Given the description of an element on the screen output the (x, y) to click on. 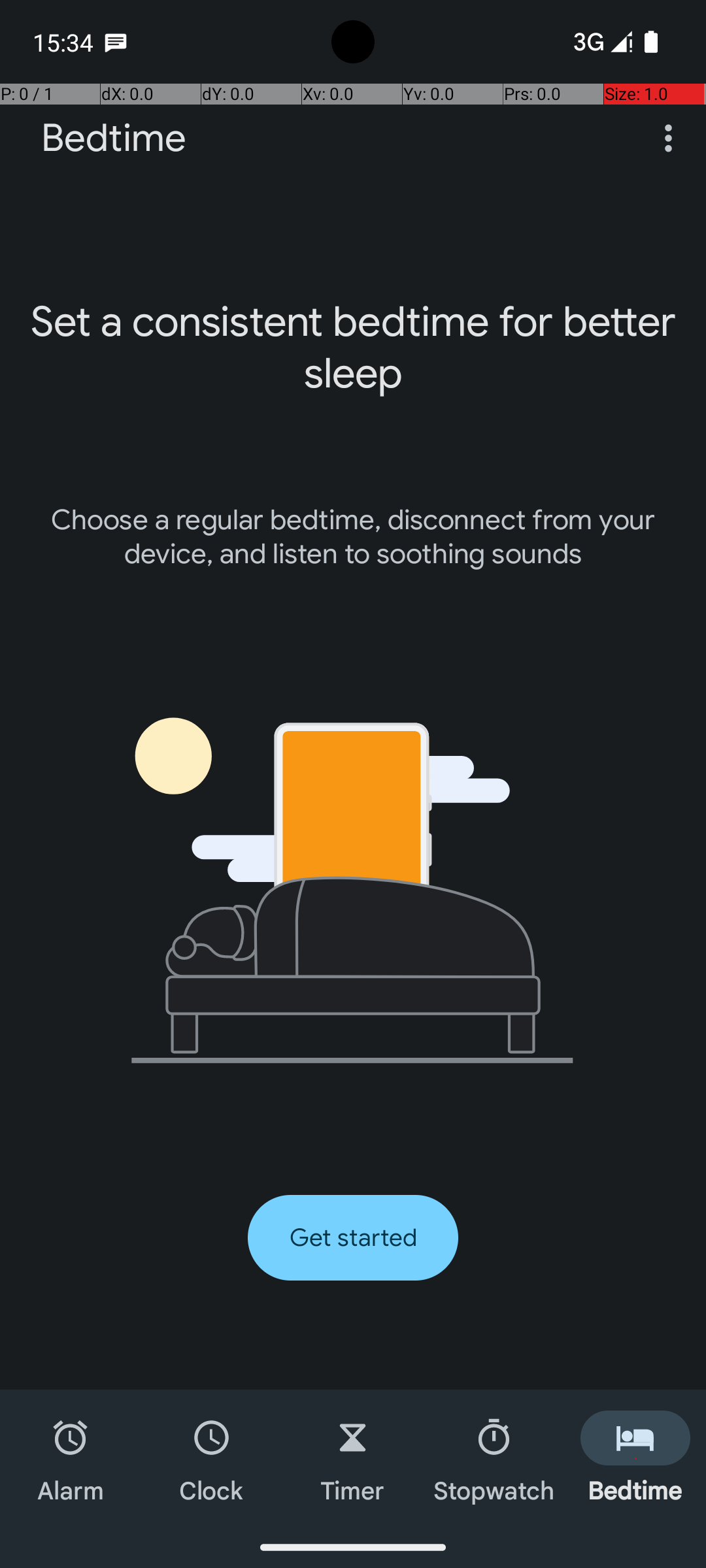
Set a consistent bedtime for better sleep Element type: android.widget.TextView (352, 347)
Choose a regular bedtime, disconnect from your device, and listen to soothing sounds Element type: android.widget.TextView (352, 536)
